Given the description of an element on the screen output the (x, y) to click on. 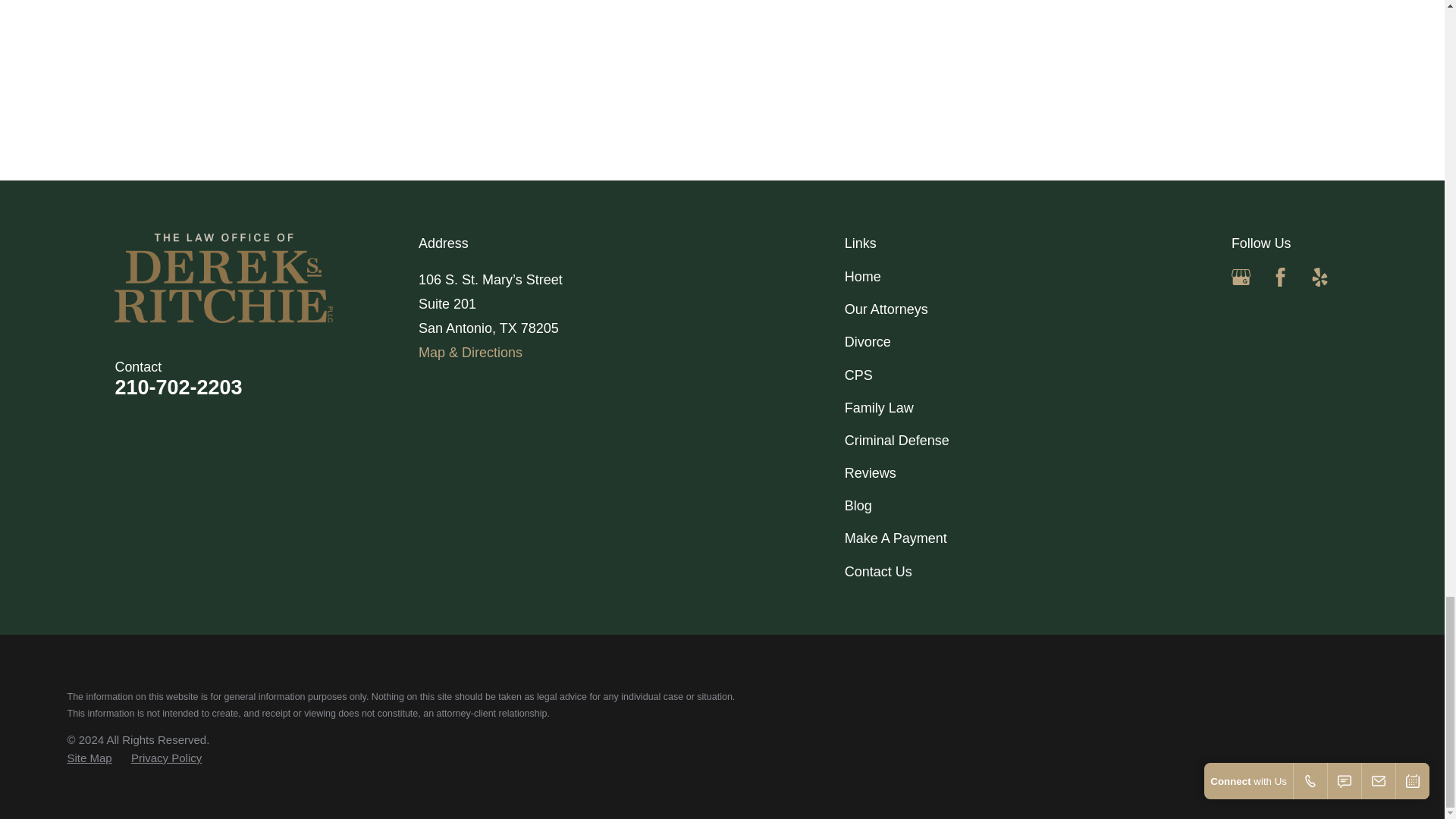
Facebook (1280, 276)
Yelp (1319, 276)
Home (267, 277)
Google Business Profile (1240, 276)
